Given the description of an element on the screen output the (x, y) to click on. 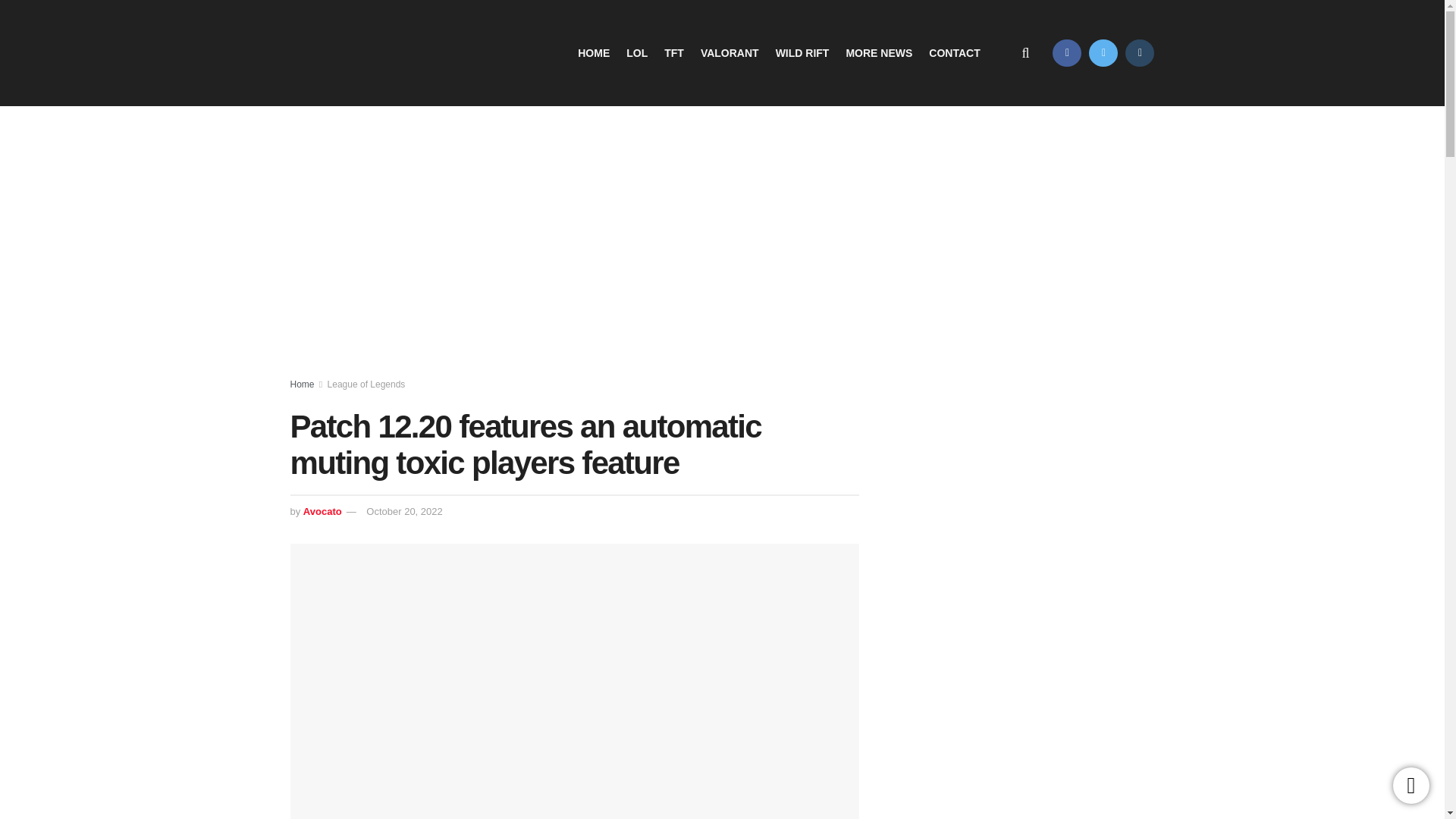
LOL (636, 52)
WILD RIFT (802, 52)
VALORANT (729, 52)
CONTACT (953, 52)
TFT (673, 52)
HOME (594, 52)
MORE NEWS (878, 52)
Home (301, 384)
